Given the description of an element on the screen output the (x, y) to click on. 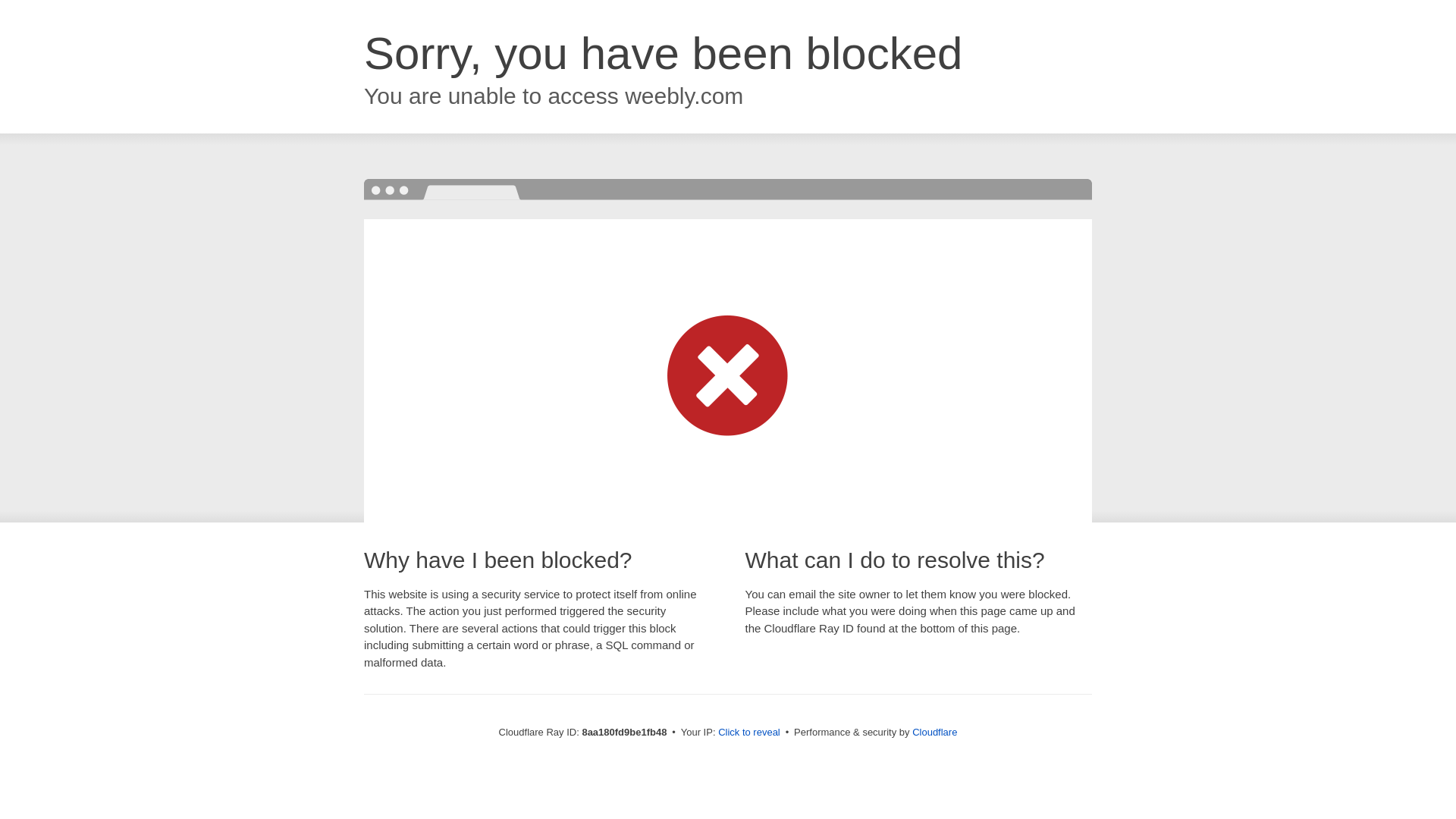
Click to reveal (748, 732)
Cloudflare (934, 731)
